Given the description of an element on the screen output the (x, y) to click on. 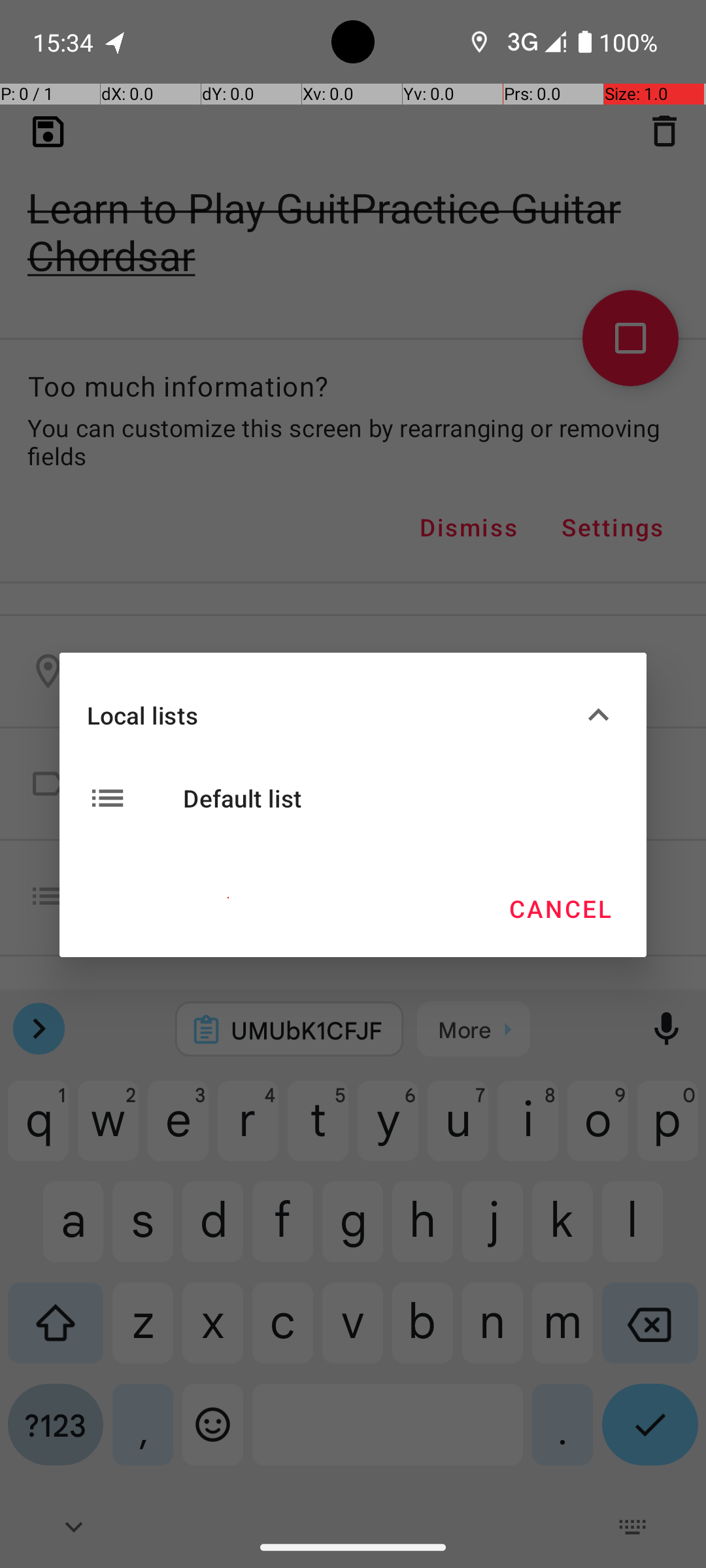
Local lists Element type: android.widget.TextView (331, 715)
